Given the description of an element on the screen output the (x, y) to click on. 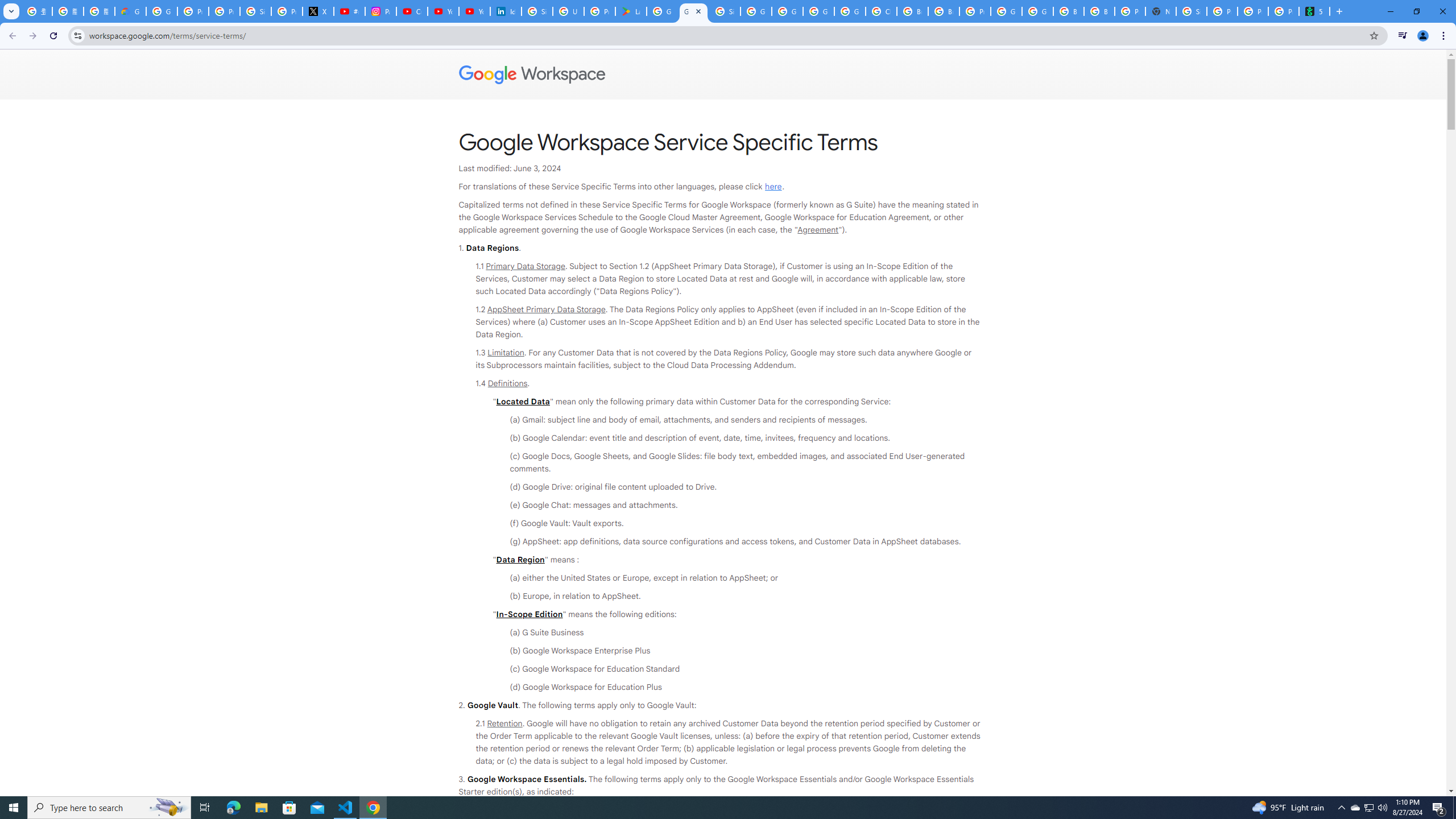
Last Shelter: Survival - Apps on Google Play (631, 11)
Google Cloud Privacy Notice (130, 11)
New Tab (1160, 11)
Sign in - Google Accounts (536, 11)
Sign in - Google Accounts (255, 11)
